Given the description of an element on the screen output the (x, y) to click on. 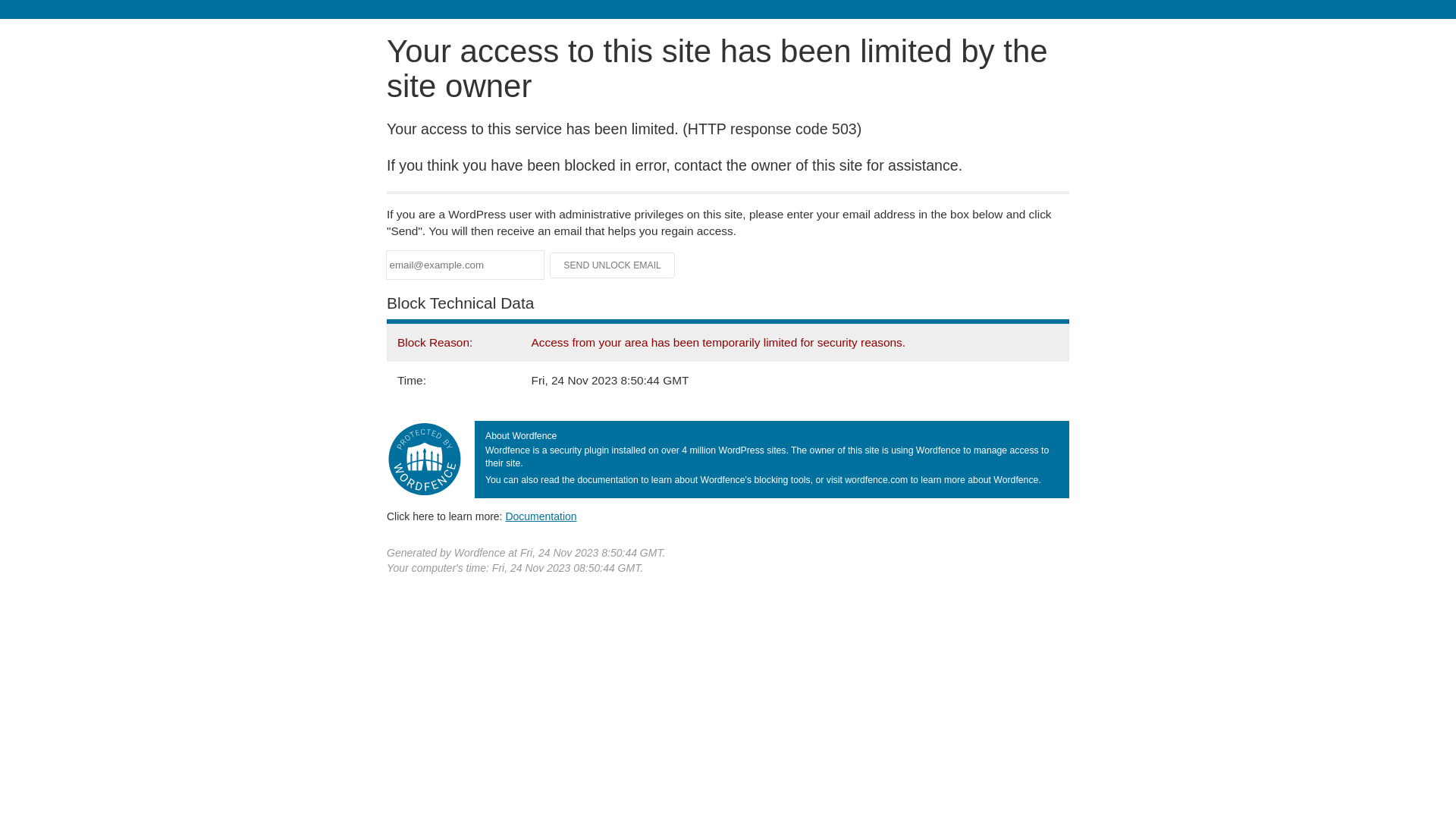
Documentation Element type: text (540, 516)
Send Unlock Email Element type: text (612, 265)
